Given the description of an element on the screen output the (x, y) to click on. 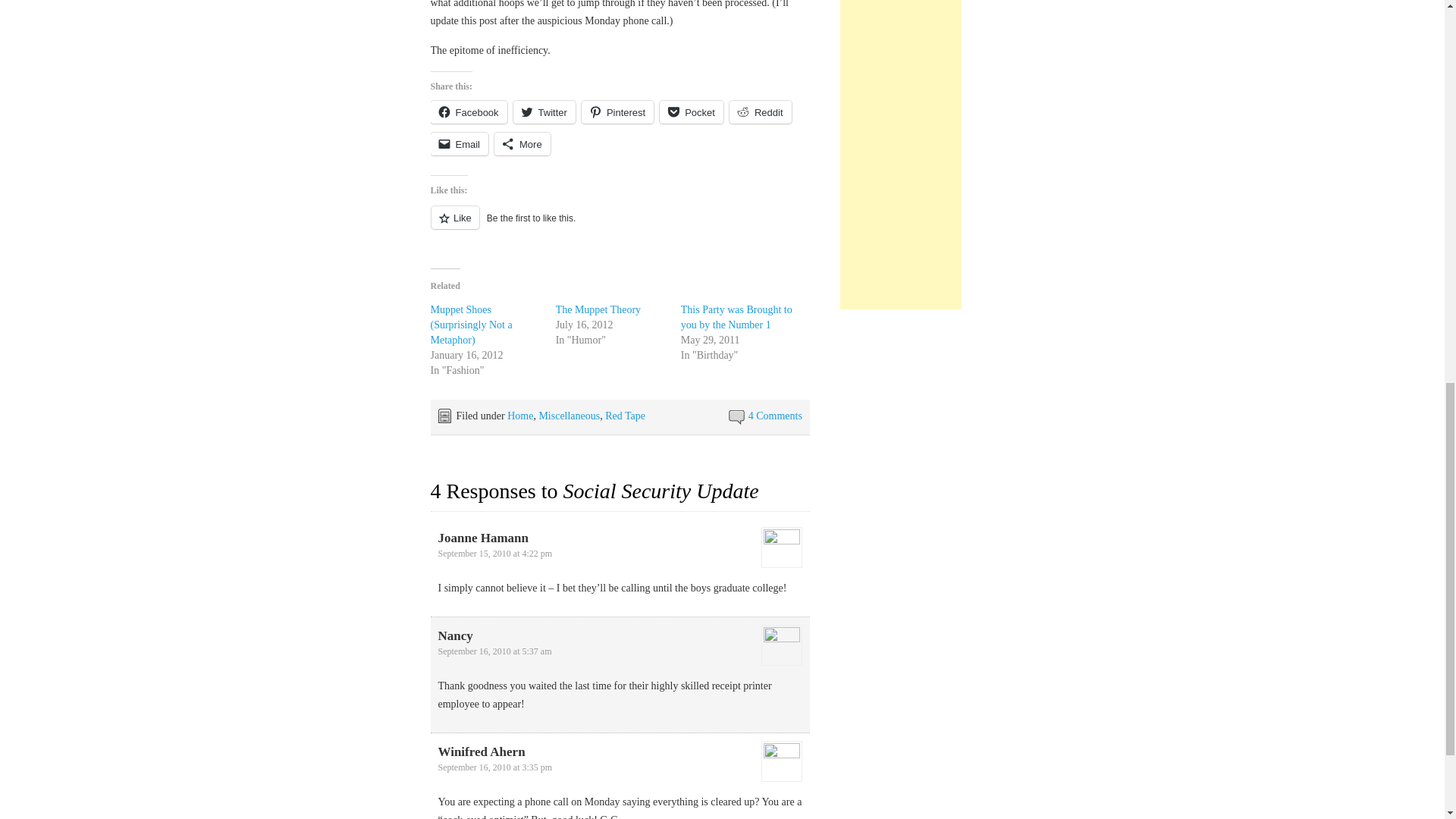
4 Comments (775, 415)
Red Tape (625, 415)
Pocket (691, 111)
Twitter (544, 111)
Pinterest (616, 111)
This Party was Brought to you by the Number 1 (736, 316)
Click to share on Pocket (691, 111)
Email (459, 143)
Facebook (468, 111)
Like or Reblog (619, 226)
